Given the description of an element on the screen output the (x, y) to click on. 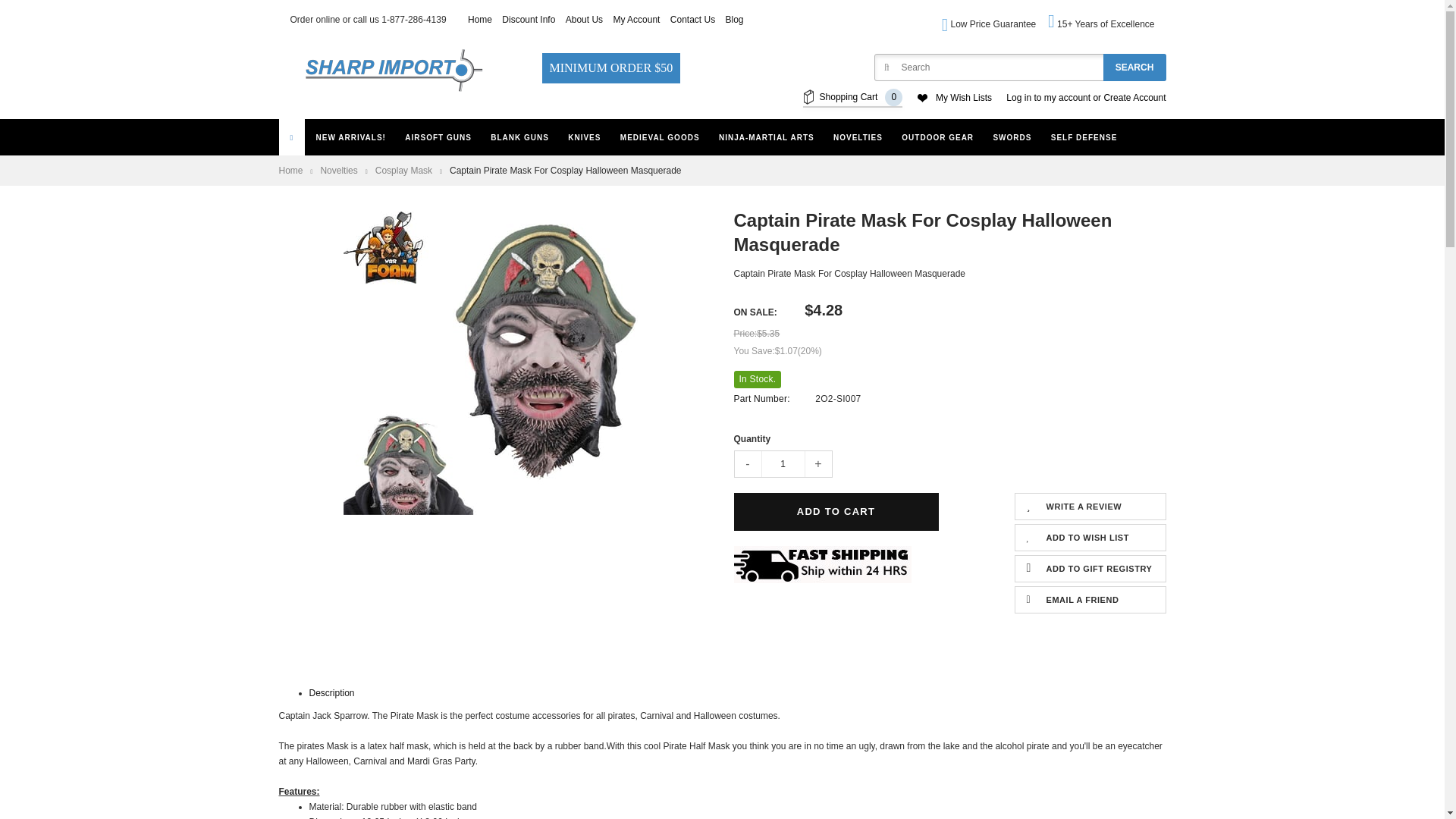
Contact Us (691, 19)
AIRSOFT GUNS (437, 138)
Home (479, 19)
SEARCH (1134, 67)
Discount Info (528, 19)
Blog (733, 19)
Create Account (1134, 98)
Shopping Cart0 (852, 97)
NEW ARRIVALS! (350, 138)
About Us (584, 19)
Captain Pirate Mask For Cosplay Halloween Masquerade  (494, 362)
Sharp Import (392, 69)
Log in to my account (1048, 98)
My Account (635, 19)
My Wish Lists (963, 98)
